Given the description of an element on the screen output the (x, y) to click on. 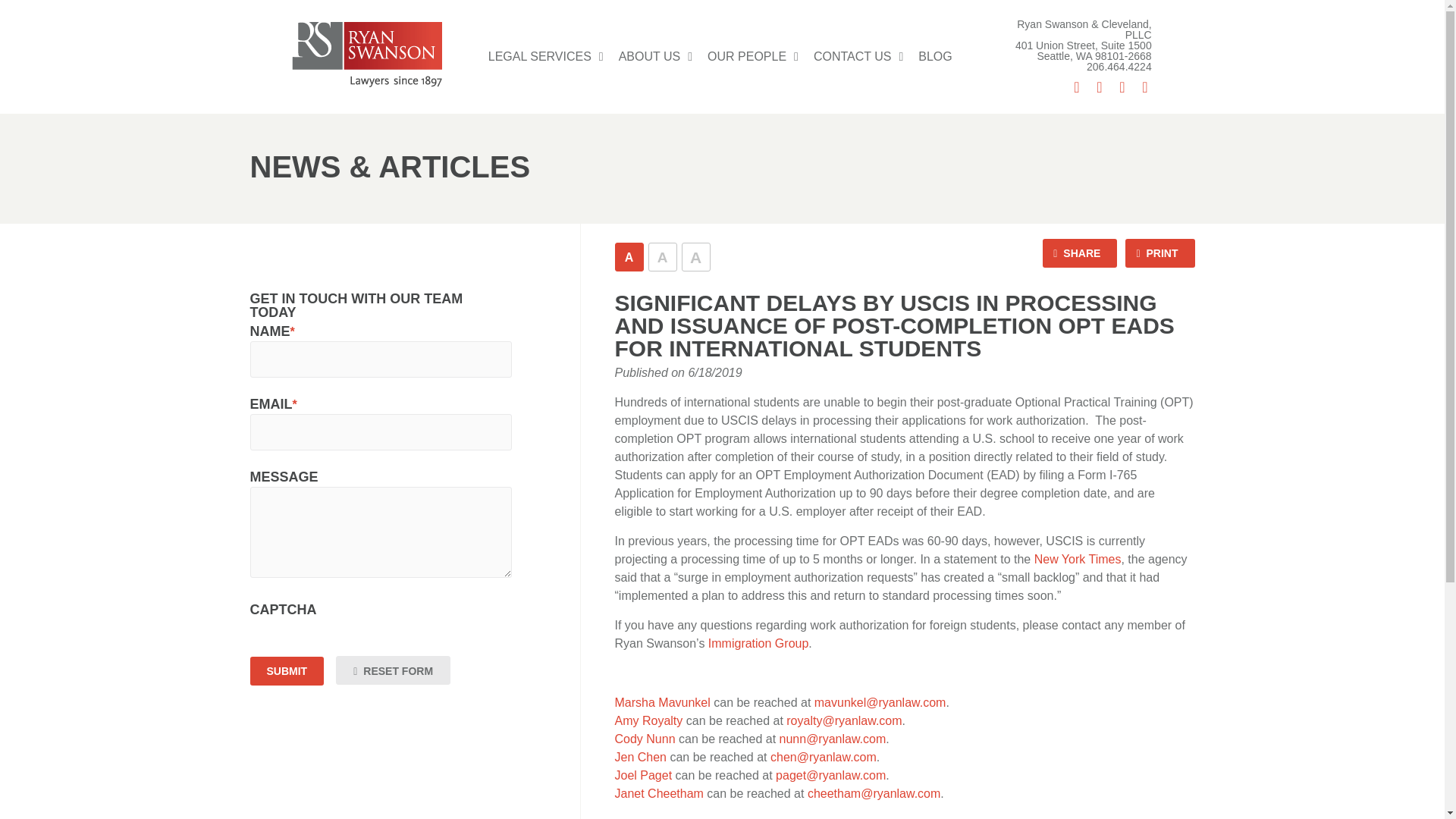
OUR PEOPLE (753, 56)
Submit (287, 670)
ABOUT US (655, 56)
LEGAL SERVICES (545, 56)
